Given the description of an element on the screen output the (x, y) to click on. 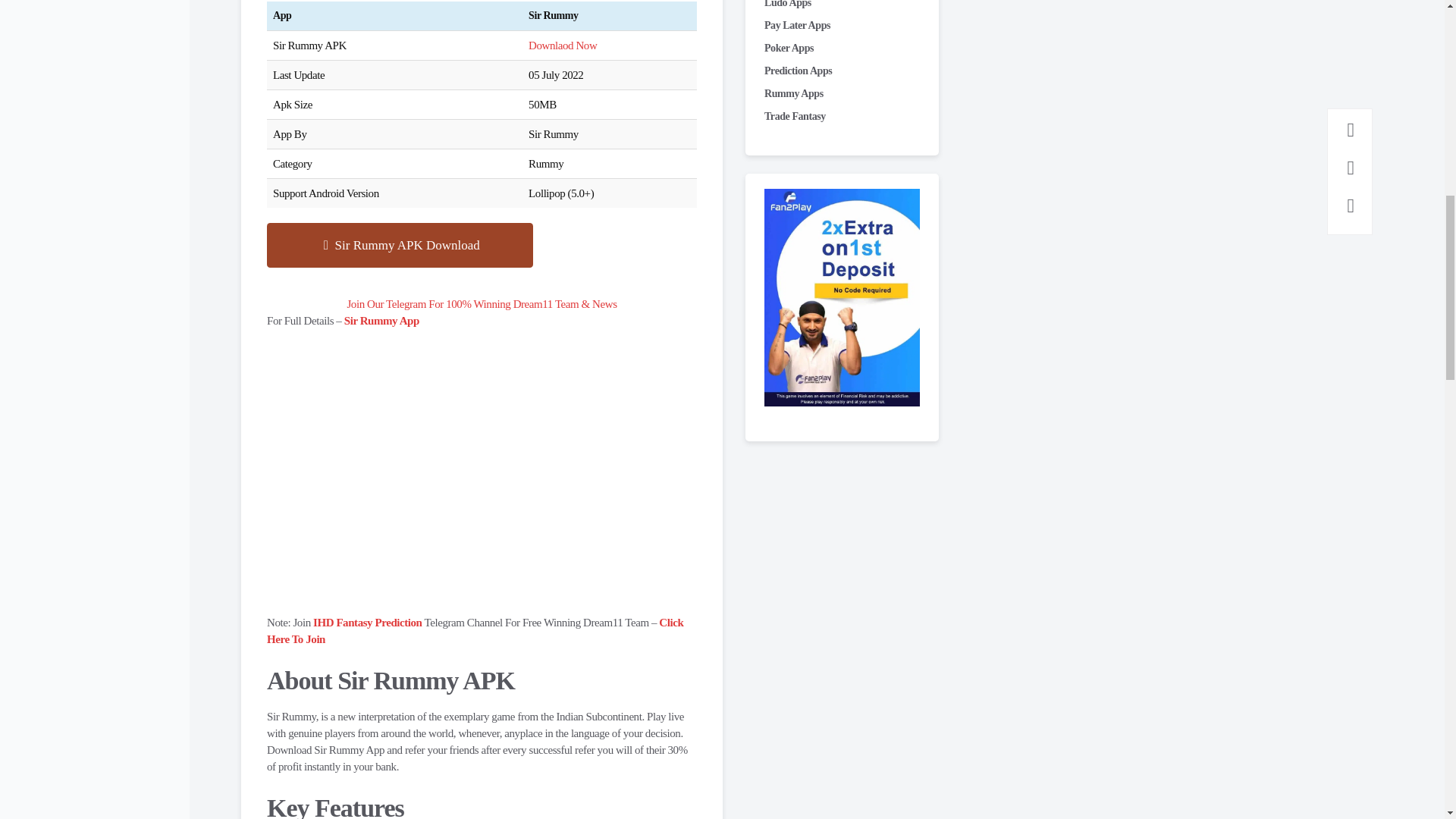
Pay Later Apps (796, 25)
   Sir Rummy APK Download (399, 245)
Downlaod Now (562, 45)
Prediction Apps (797, 70)
Ludo Apps (787, 4)
Poker Apps (788, 48)
Trade Fantasy (794, 116)
Rummy Apps (794, 93)
